Given the description of an element on the screen output the (x, y) to click on. 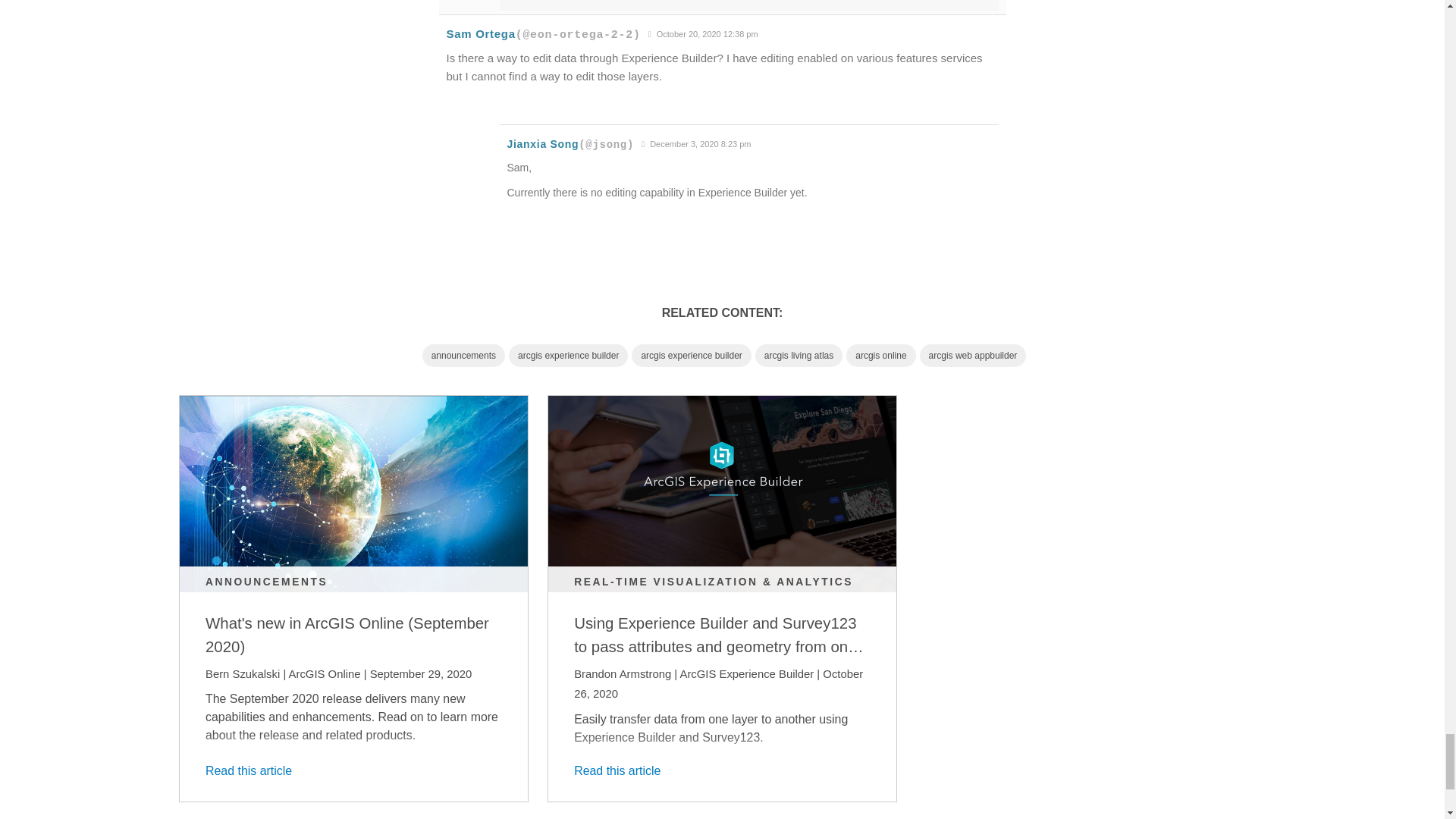
announcements (463, 354)
arcgis experience builder (567, 354)
arcgis experience builder (691, 354)
